Given the description of an element on the screen output the (x, y) to click on. 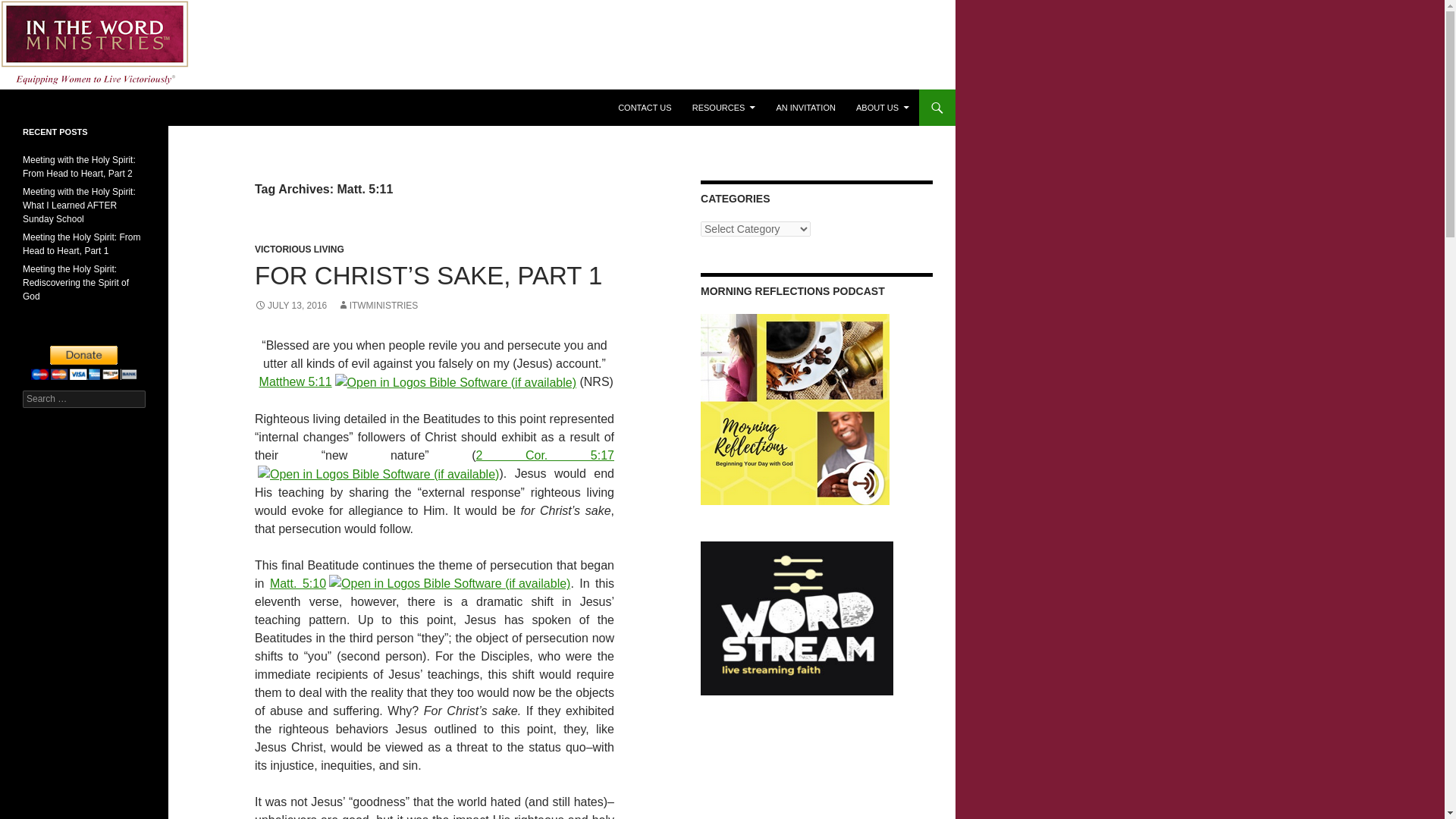
VICTORIOUS LIVING (298, 249)
In The Word Ministries (95, 107)
2 Cor. 5:17 (545, 454)
AN INVITATION (805, 107)
RESOURCES (723, 107)
Matt. 5:10 (297, 582)
Matthew 5:11 (295, 381)
CONTACT US (644, 107)
ABOUT US (882, 107)
ITWMINISTRIES (378, 305)
JULY 13, 2016 (290, 305)
Christian Devotion-In The Word MinistriesKC  (794, 409)
